Given the description of an element on the screen output the (x, y) to click on. 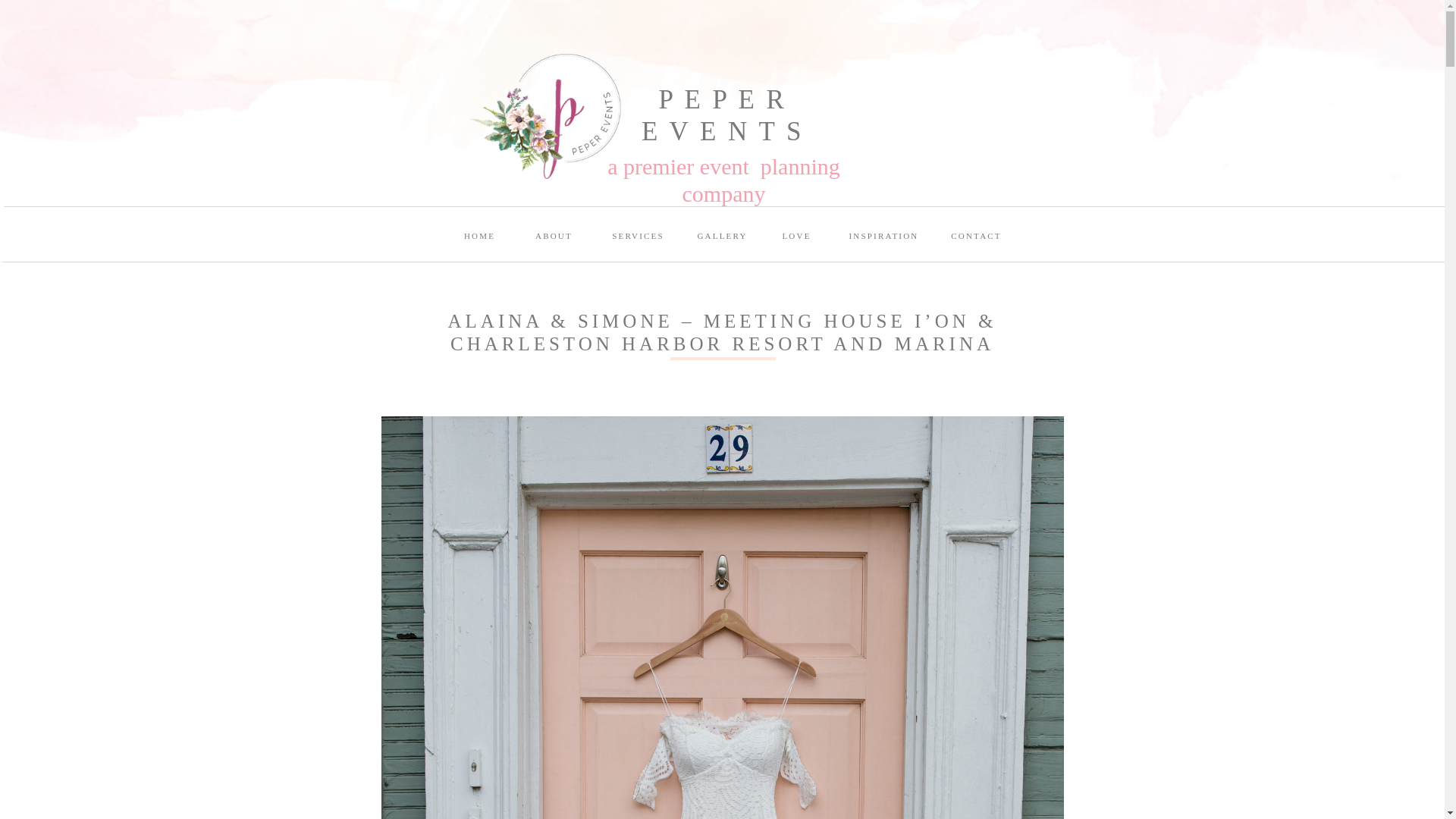
SERVICES (637, 238)
GALLERY (722, 238)
HOME (479, 238)
CONTACT (975, 238)
ABOUT (553, 238)
LOVE (796, 238)
INSPIRATION (882, 238)
